Given the description of an element on the screen output the (x, y) to click on. 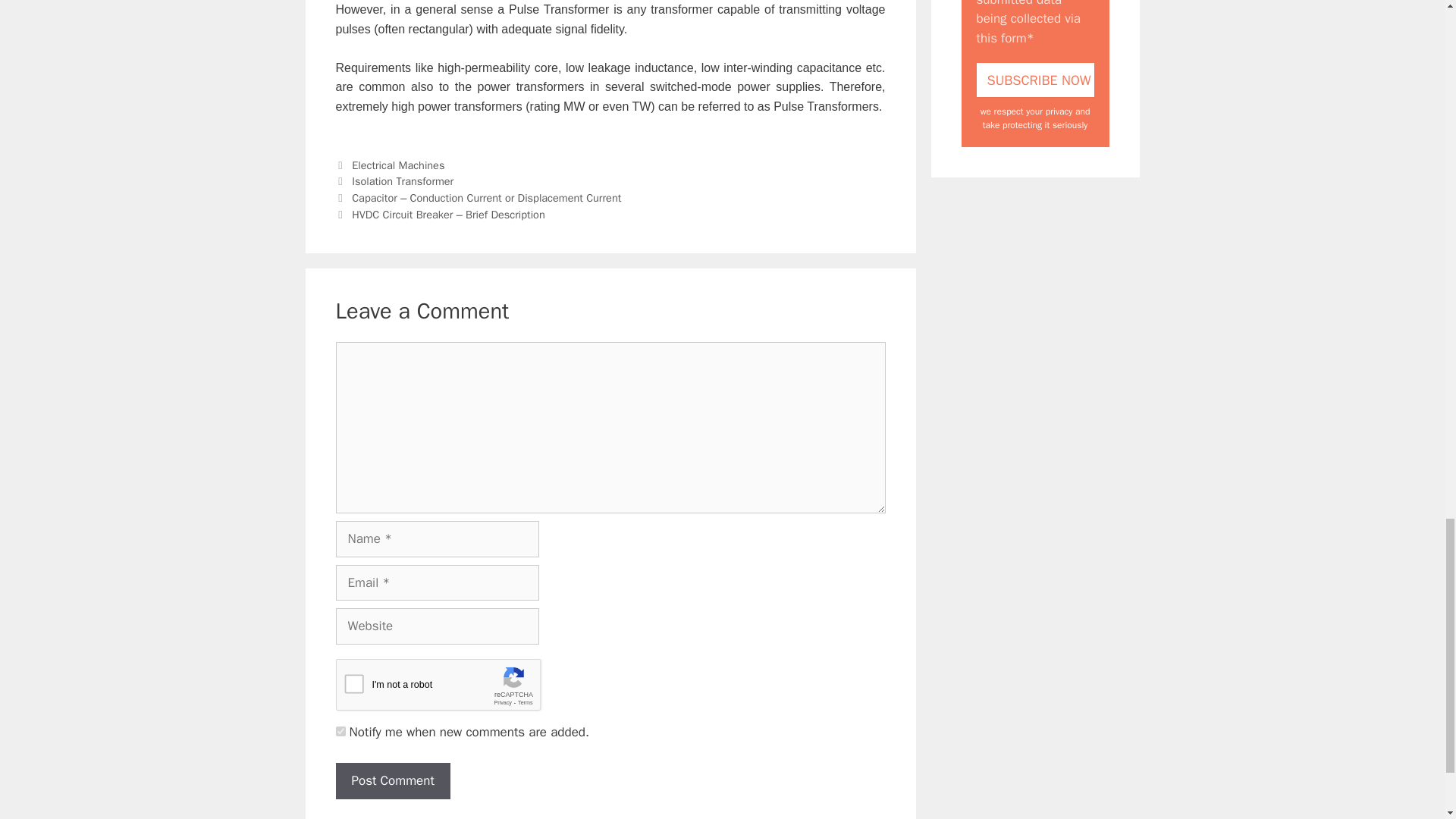
Next (439, 214)
reCAPTCHA (450, 688)
Isolation Transformer (402, 181)
Electrical Machines (398, 164)
Previous (477, 197)
Post Comment (391, 780)
1 (339, 731)
Post Comment (391, 780)
Subscribe Now (1035, 80)
Subscribe Now (1035, 80)
